Given the description of an element on the screen output the (x, y) to click on. 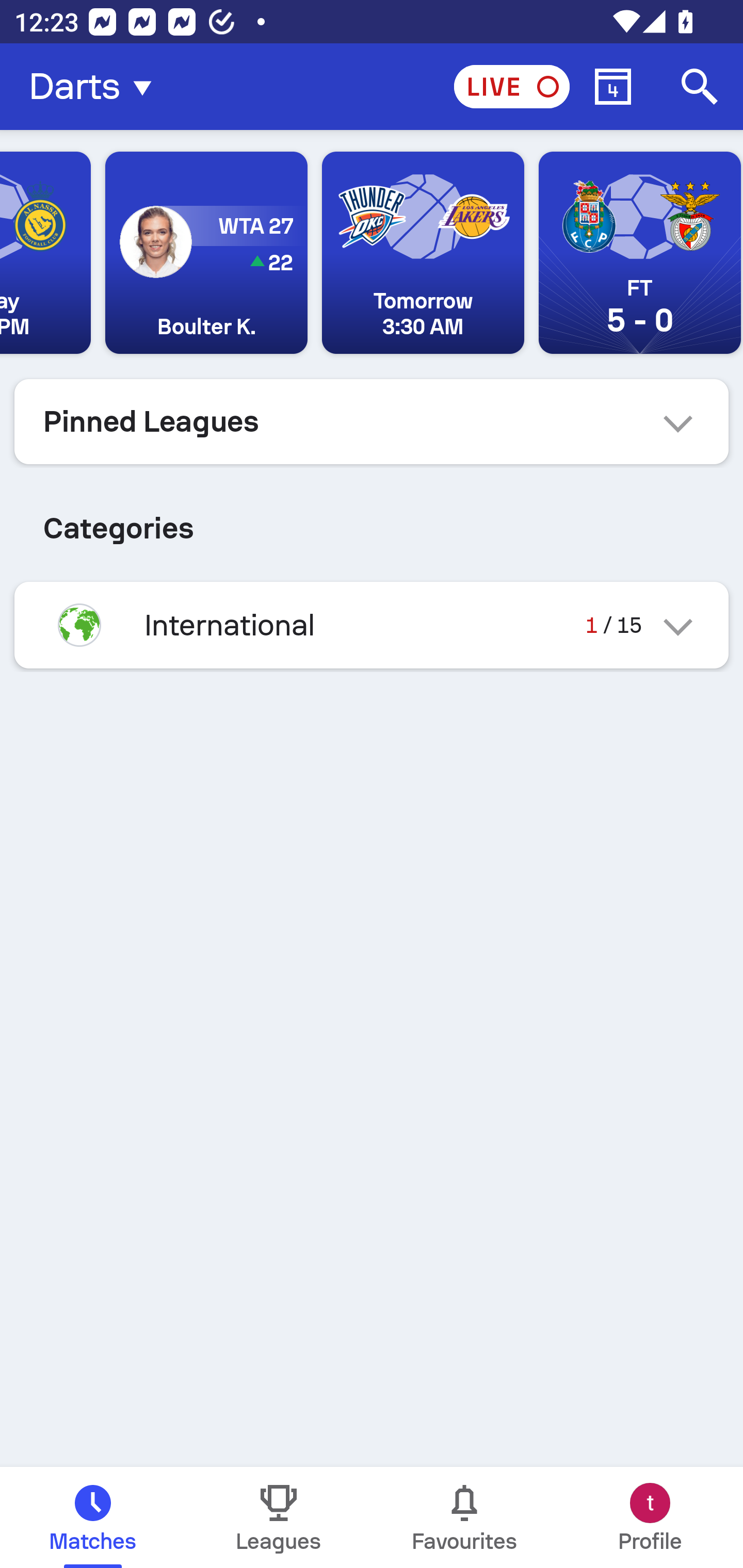
Darts (96, 86)
Calendar (612, 86)
Search (699, 86)
WTA 27 22 Boulter K. (206, 253)
Tomorrow
3:30 AM (422, 253)
FT 5 - 0 (639, 253)
Pinned Leagues (371, 421)
Categories (371, 520)
International 1 / 15 (371, 624)
Leagues (278, 1517)
Favourites (464, 1517)
Profile (650, 1517)
